Given the description of an element on the screen output the (x, y) to click on. 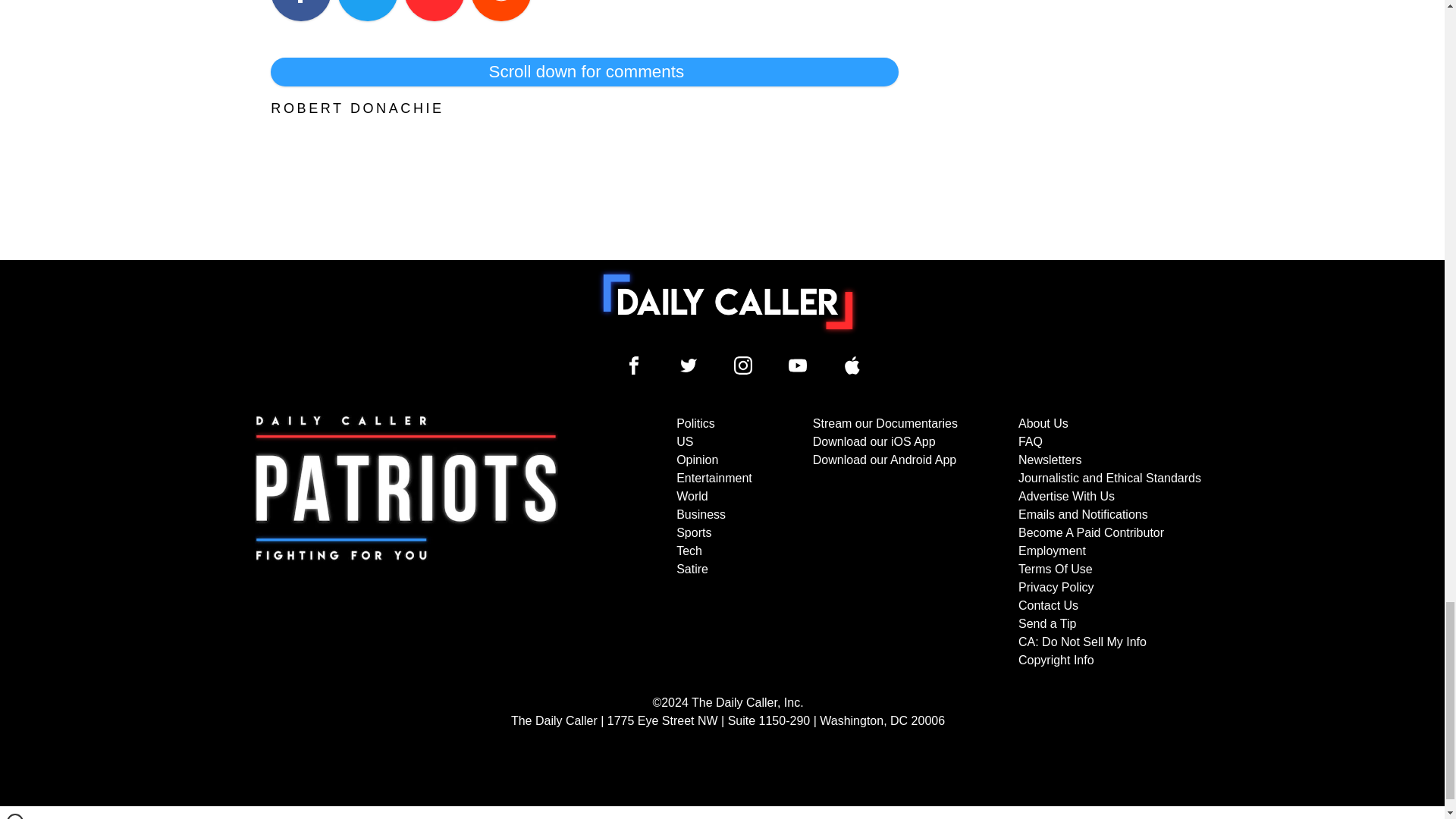
Daily Caller Twitter (688, 365)
Scroll down for comments (584, 71)
Daily Caller YouTube (797, 365)
Daily Caller Instagram (742, 365)
Daily Caller YouTube (852, 365)
Subscribe to The Daily Caller (405, 541)
To home page (727, 301)
Daily Caller Facebook (633, 365)
